Given the description of an element on the screen output the (x, y) to click on. 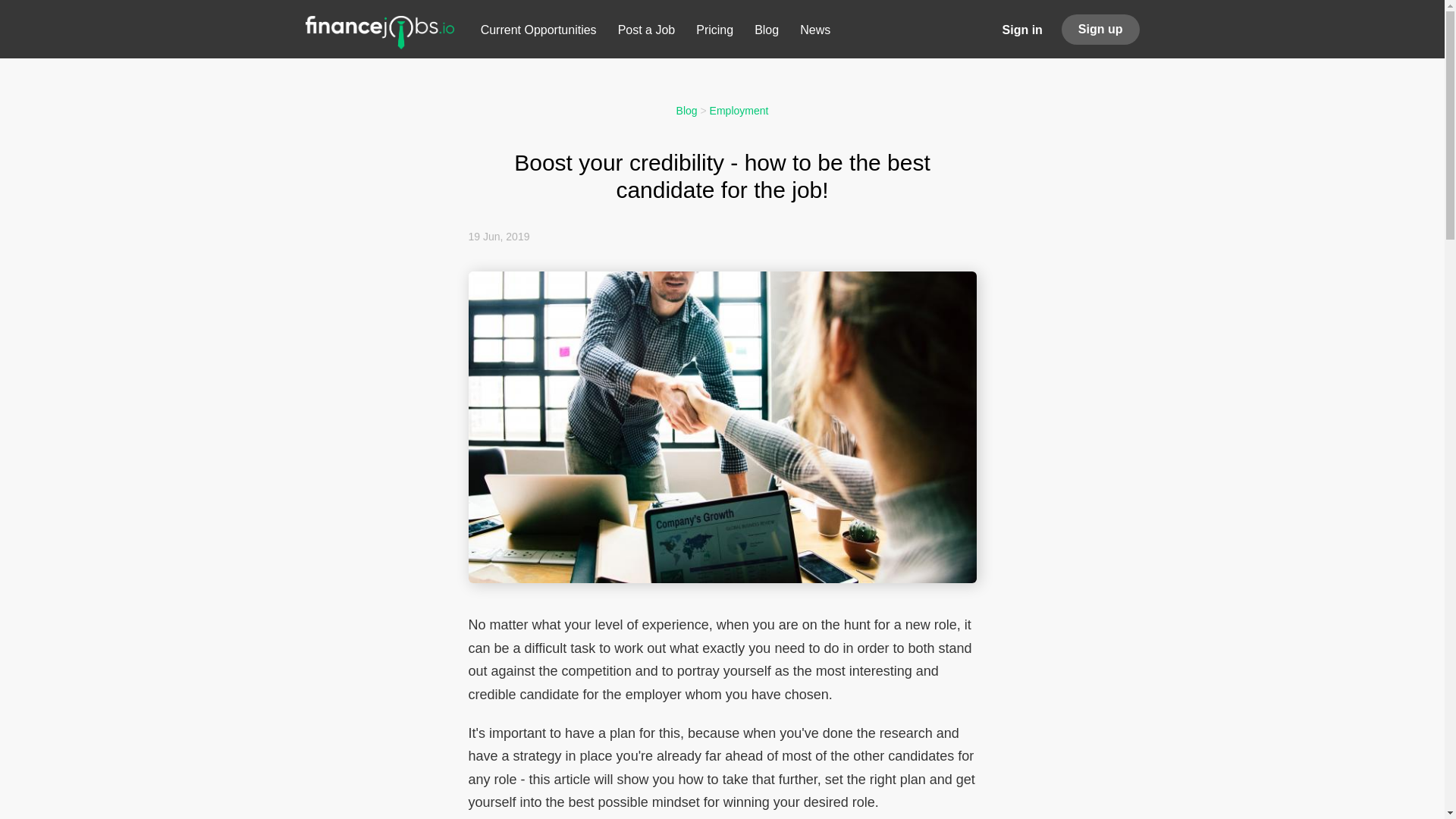
Blog (766, 33)
Current Opportunities (538, 33)
Post a Job (646, 33)
Employment (739, 110)
Blog (687, 110)
Pricing (714, 33)
Sign up (1100, 29)
Sign in (1022, 28)
News (814, 33)
